Given the description of an element on the screen output the (x, y) to click on. 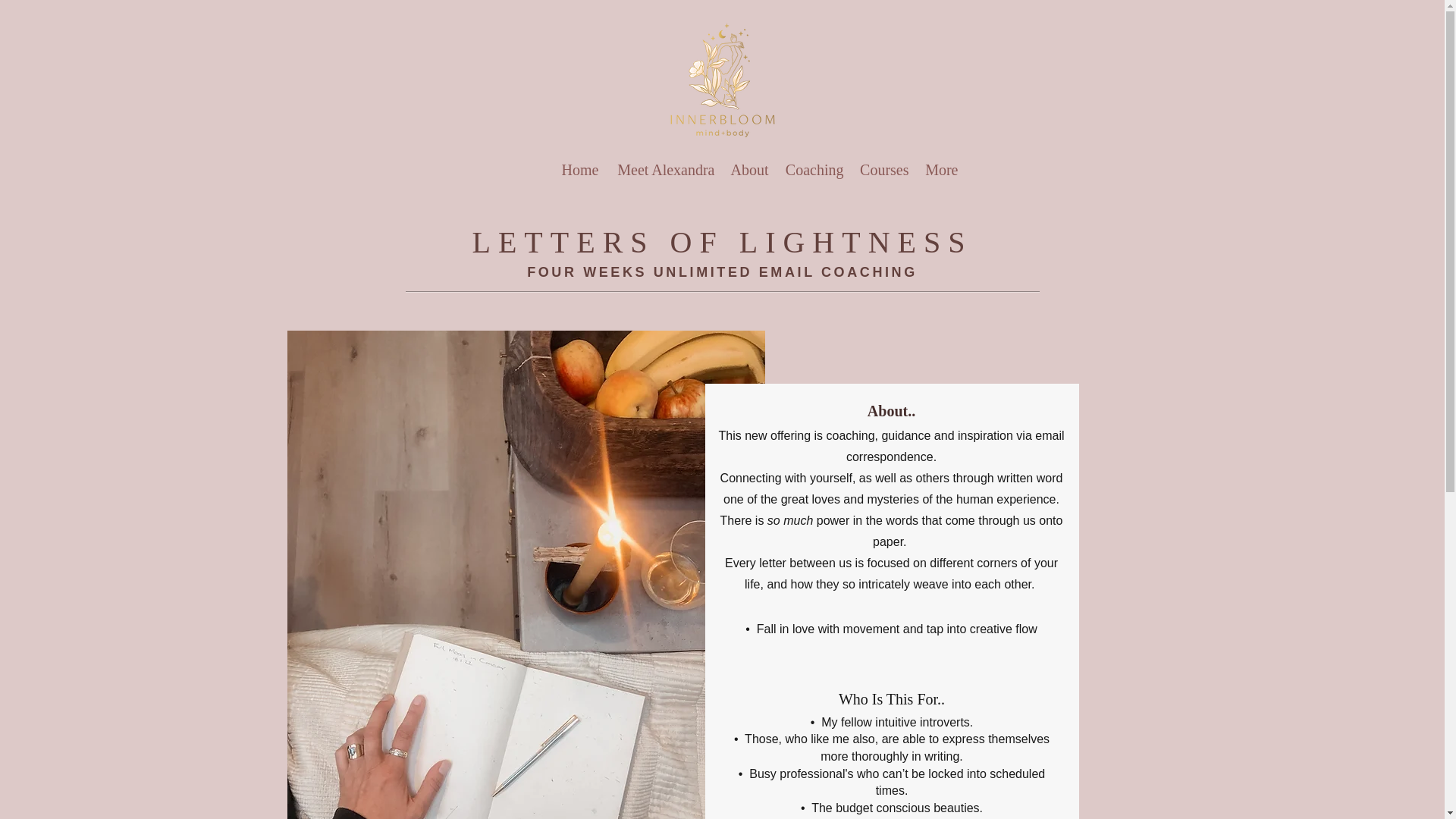
Coaching (813, 170)
Meet Alexandra (664, 170)
Courses (882, 170)
About (749, 170)
Home (580, 170)
